Given the description of an element on the screen output the (x, y) to click on. 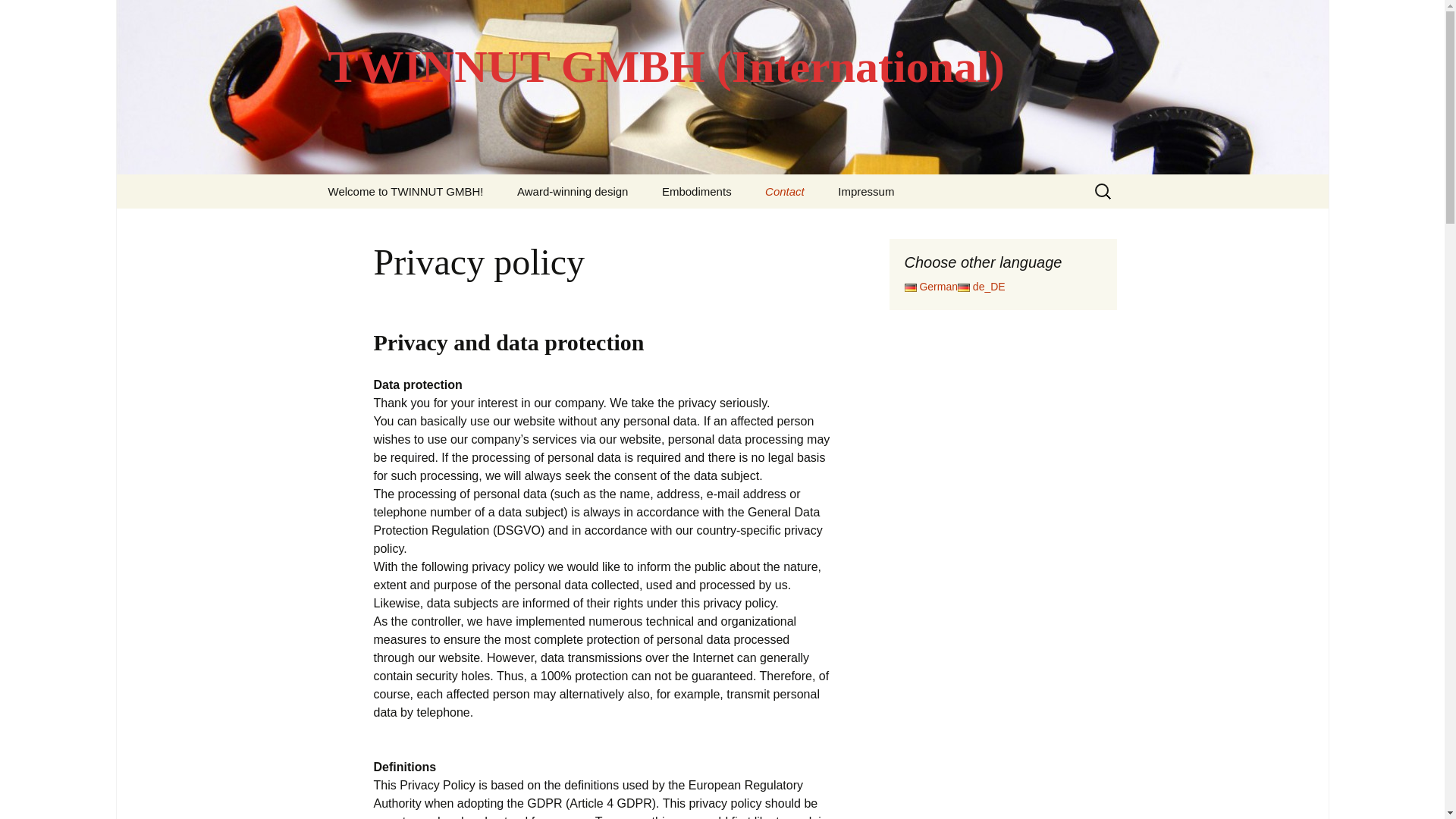
Materials (721, 225)
Contact (784, 191)
Welcome to TWINNUT GMBH! (405, 191)
Information (388, 225)
German (930, 286)
Embodiments (696, 191)
Impressum (865, 191)
Privacy policy (825, 225)
German (930, 286)
